Given the description of an element on the screen output the (x, y) to click on. 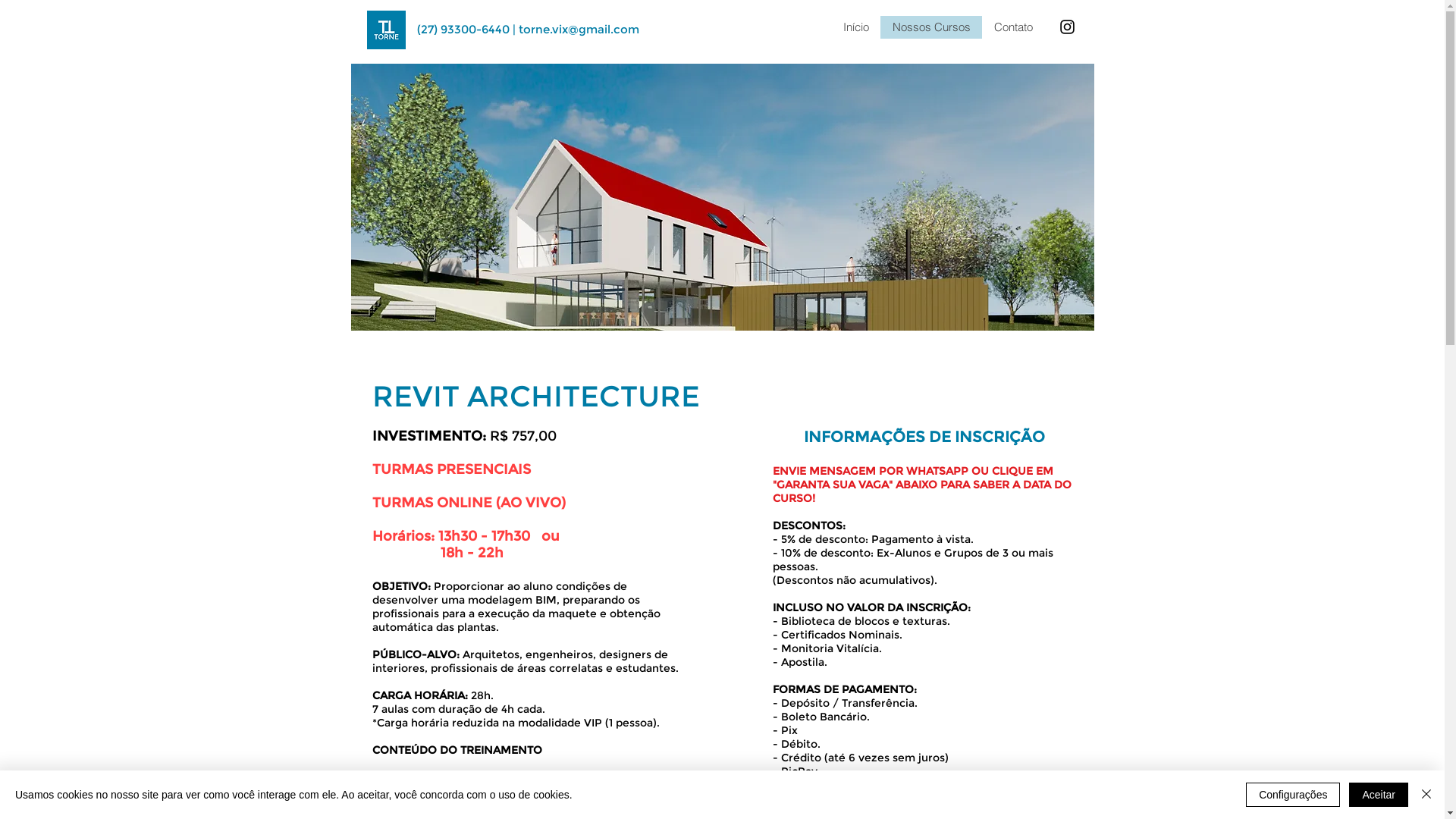
TORNE - LOGO WIX 2.png Element type: hover (386, 29)
(27) 93300-6440 | torne.vix@gmail.com Element type: text (528, 28)
Contato Element type: text (1012, 26)
Aceitar Element type: text (1378, 794)
Nossos Cursos Element type: text (930, 26)
